Given the description of an element on the screen output the (x, y) to click on. 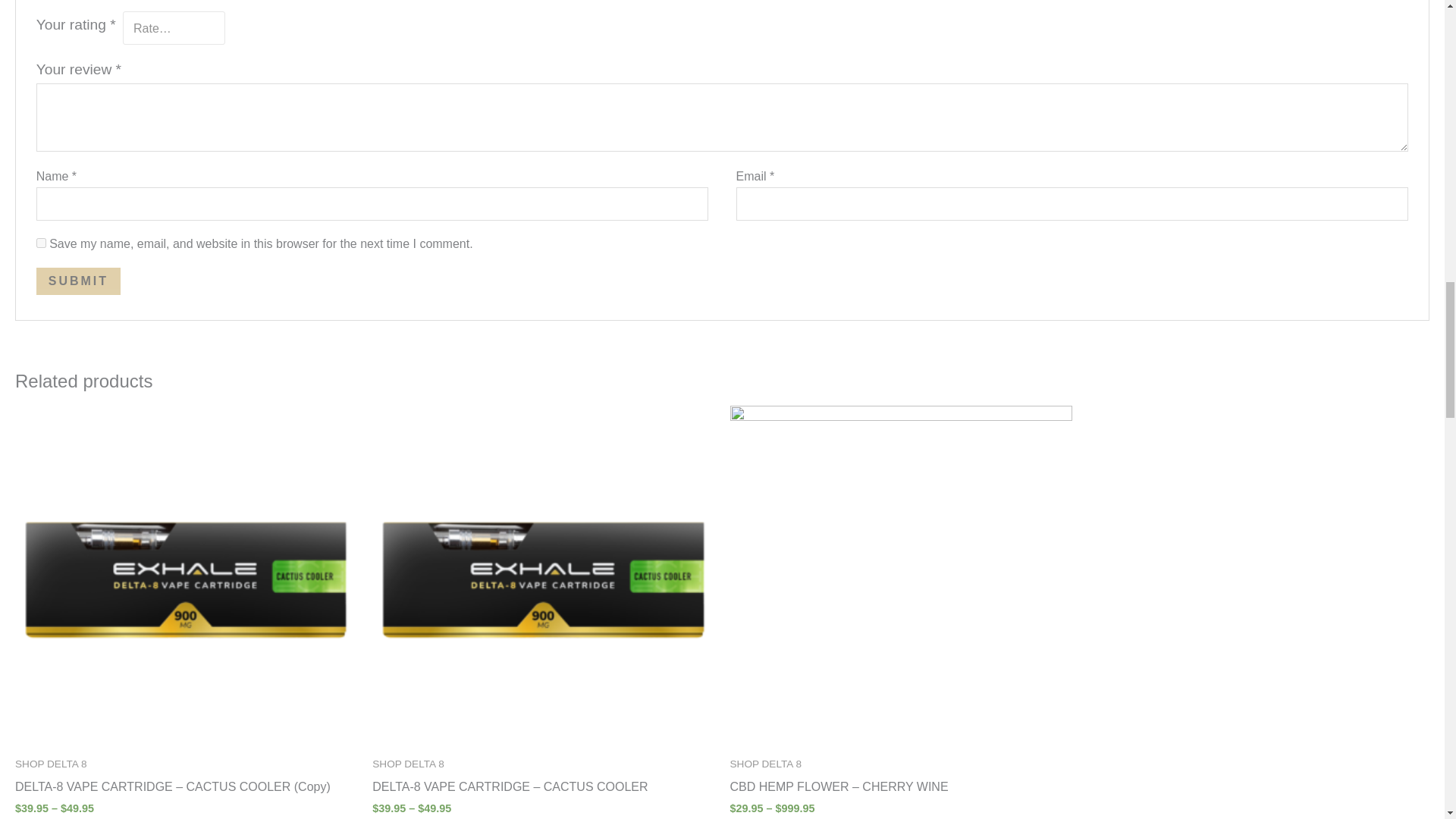
Submit (78, 280)
yes (41, 243)
